Given the description of an element on the screen output the (x, y) to click on. 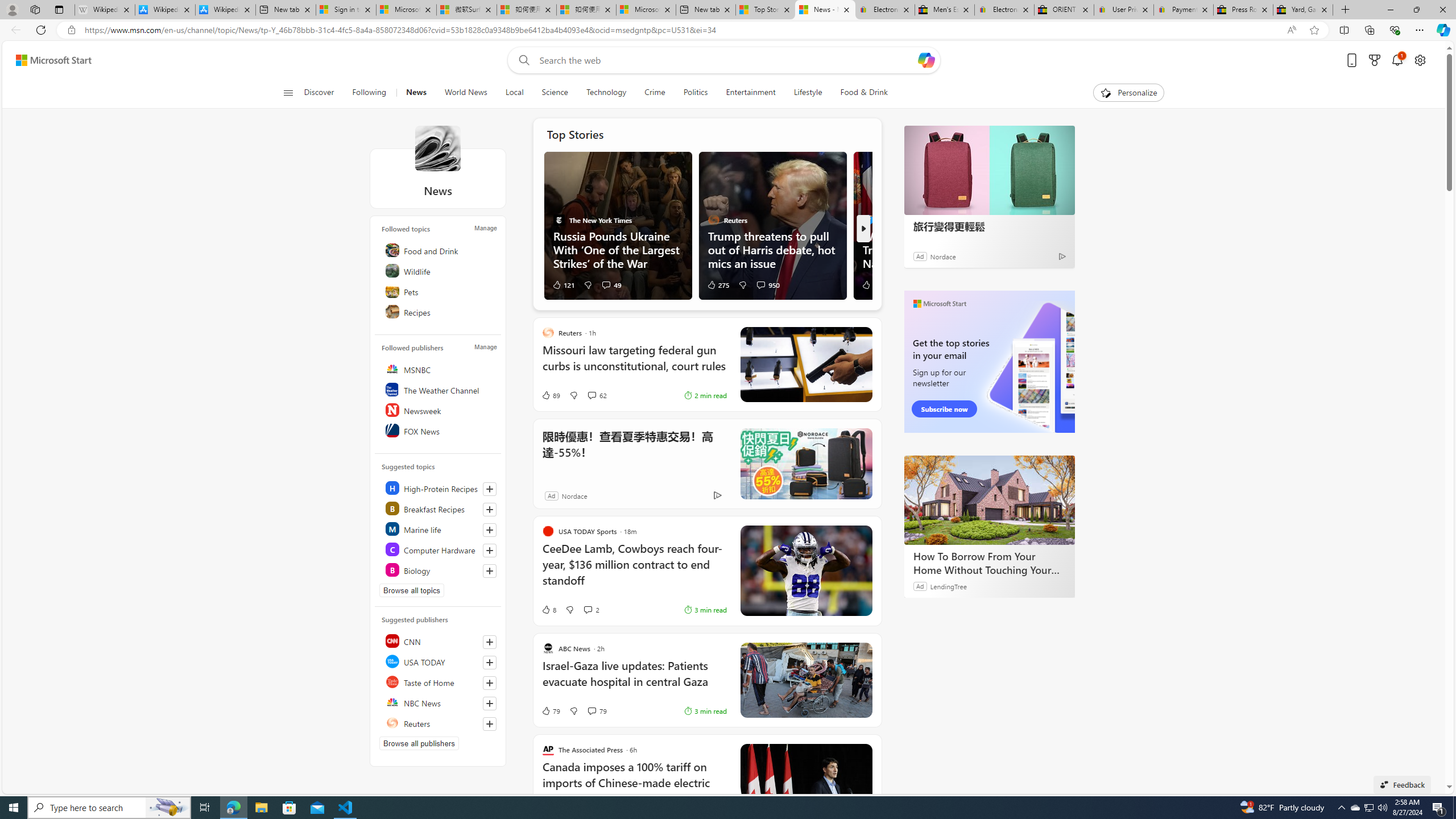
Web search (520, 60)
Follow this topic (489, 571)
Food and Drink (439, 249)
Dislike (573, 710)
Press Room - eBay Inc. (1243, 9)
The Weather Channel (439, 389)
89 Like (549, 395)
Ad Choice (717, 495)
View comments 2 Comment (591, 609)
Nordace (575, 495)
Address and search bar (680, 29)
